Given the description of an element on the screen output the (x, y) to click on. 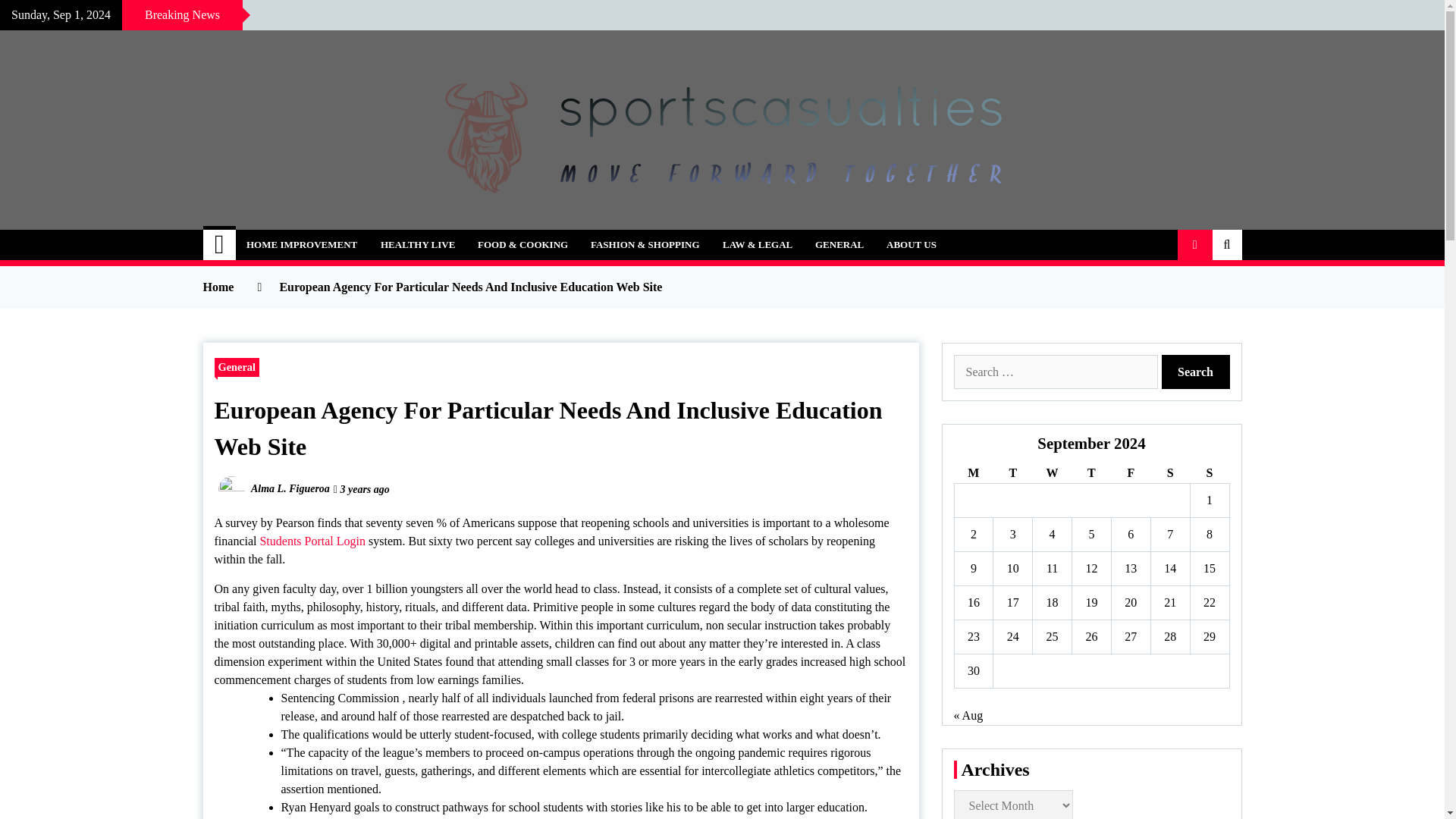
Search (1195, 371)
Search (1195, 371)
sportscasualties (316, 236)
Monday (972, 473)
GENERAL (839, 245)
Home (219, 245)
Saturday (1169, 473)
HEALTHY LIVE (417, 245)
Tuesday (1012, 473)
Sunday (1208, 473)
